Given the description of an element on the screen output the (x, y) to click on. 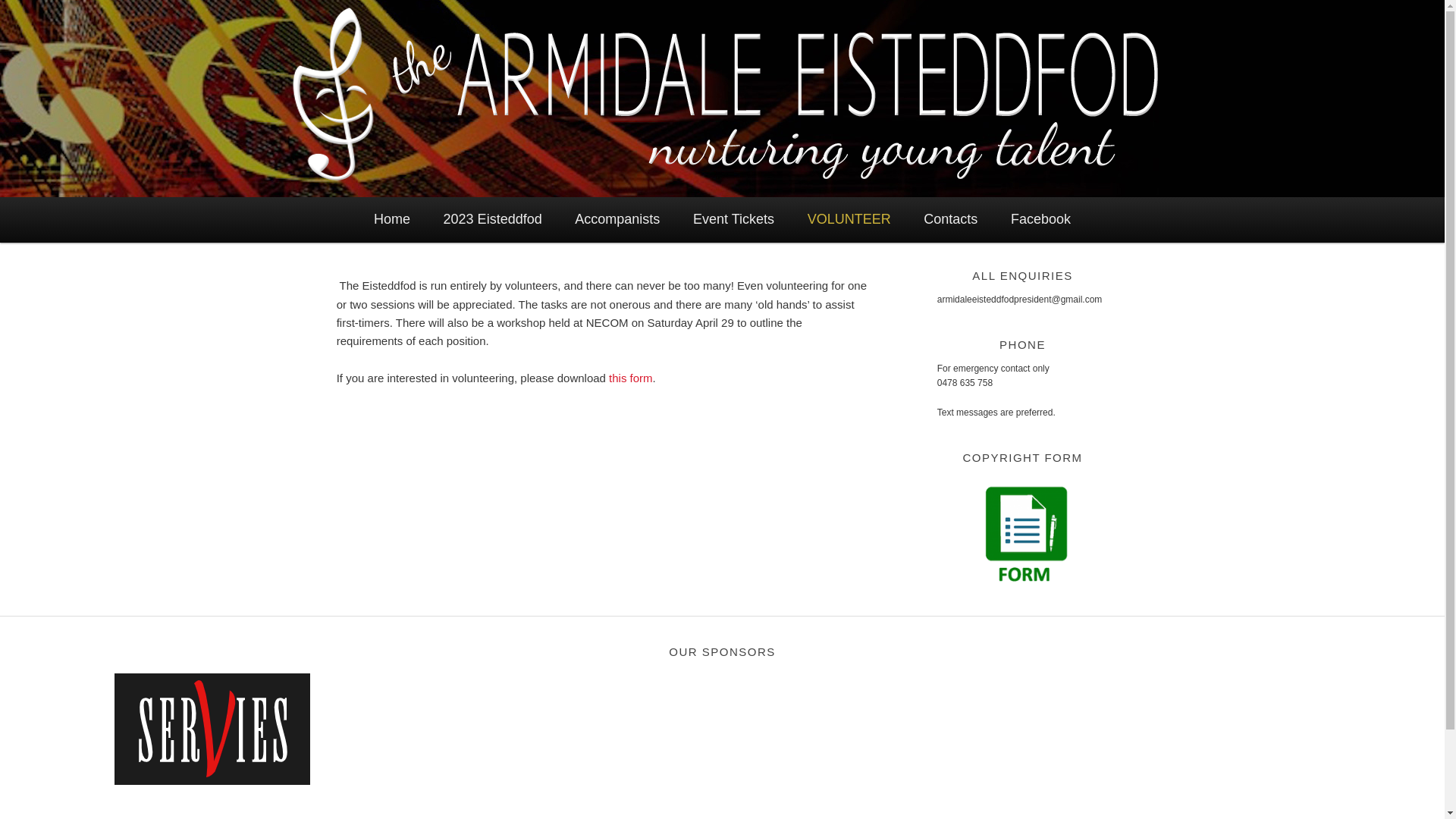
VOLUNTEER Element type: text (848, 219)
Accompanists Element type: text (617, 219)
Skip to primary content Element type: text (14, 197)
Contacts Element type: text (950, 219)
Event Tickets Element type: text (733, 219)
2023 Eisteddfod Element type: text (492, 219)
Facebook Element type: text (1040, 219)
this form Element type: text (630, 377)
Home Element type: text (391, 219)
Armidale Eisteddfod Society Element type: text (263, 54)
